Given the description of an element on the screen output the (x, y) to click on. 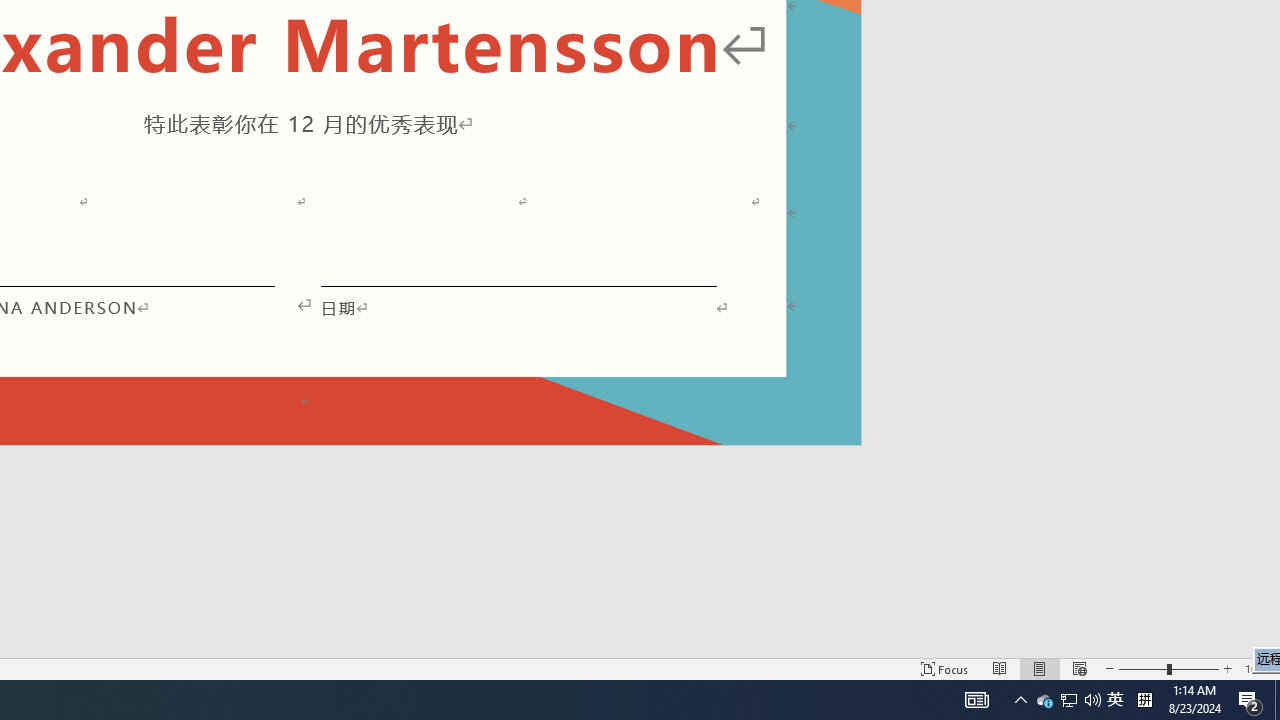
User Promoted Notification Area (1044, 699)
Q2790: 100% (1068, 699)
Tray Input Indicator - Chinese (Simplified, China) (1069, 699)
Notification Chevron (1092, 699)
AutomationID: 4105 (1144, 699)
Show desktop (1115, 699)
